Given the description of an element on the screen output the (x, y) to click on. 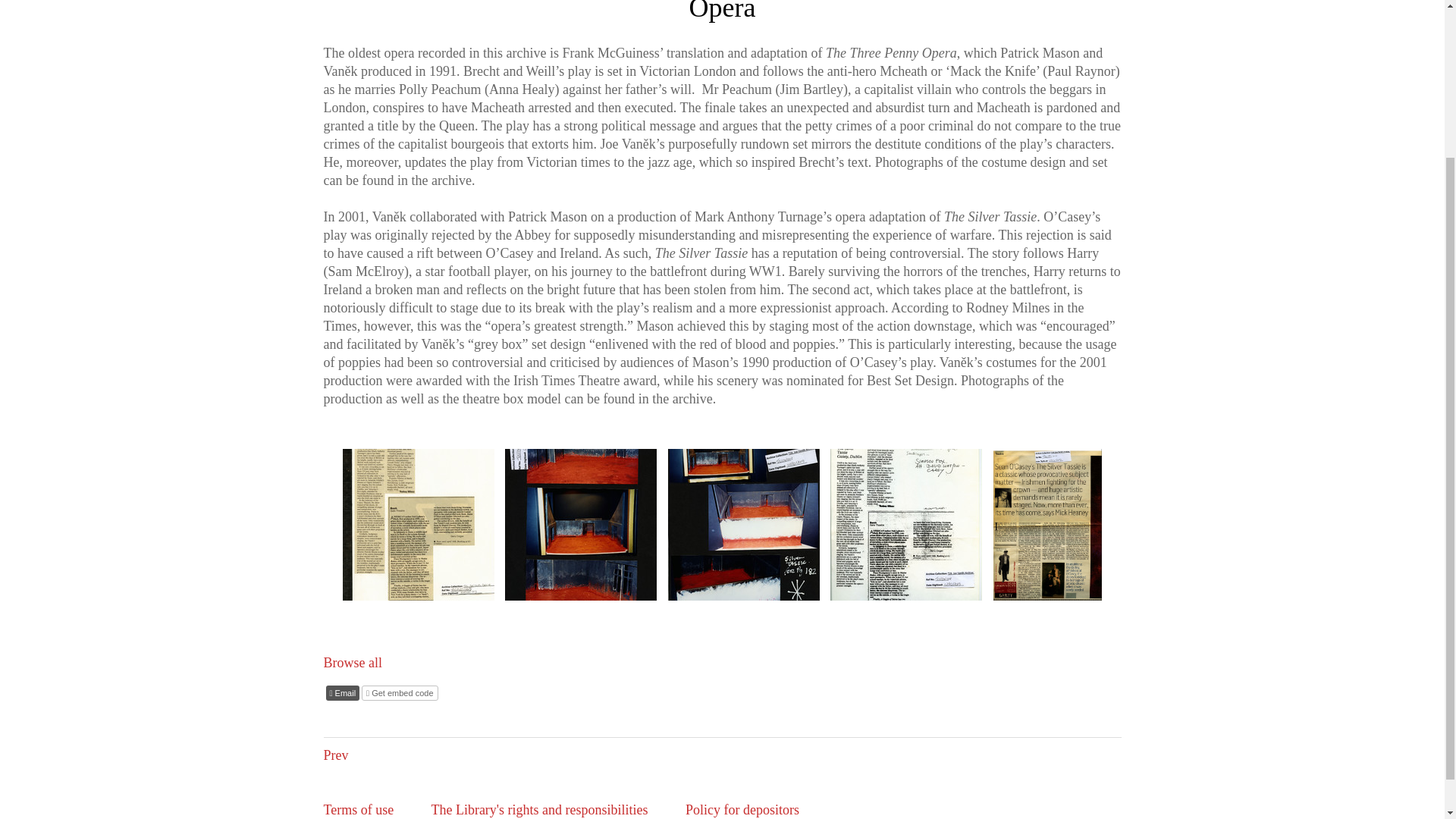
The Library's rights and responsibilities (538, 809)
Get embed code (399, 693)
Prev (335, 754)
Browse all (352, 662)
Terms of use (358, 809)
Email (342, 693)
Policy for depositors (742, 809)
